Given the description of an element on the screen output the (x, y) to click on. 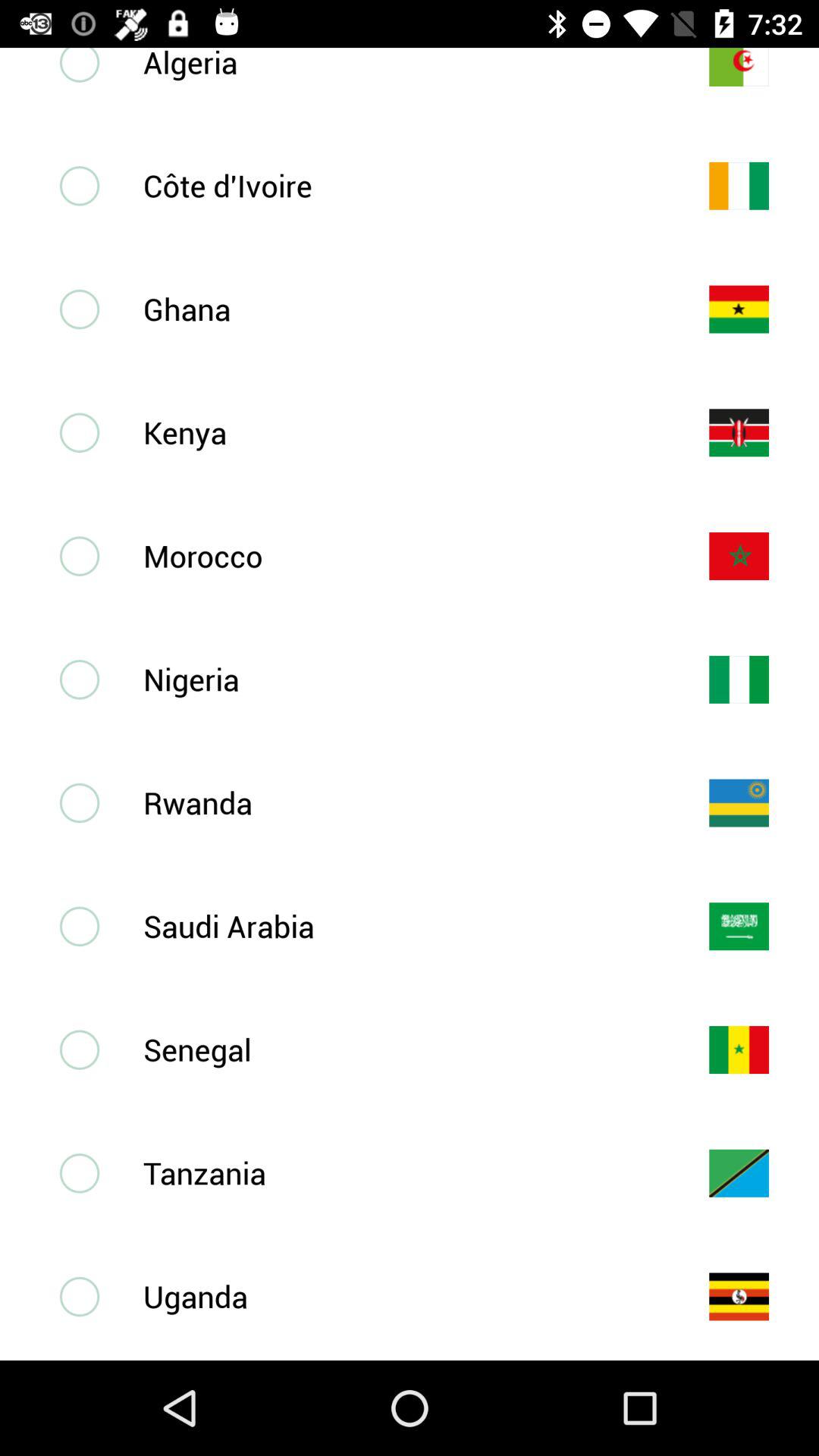
flip until the ghana item (401, 308)
